Given the description of an element on the screen output the (x, y) to click on. 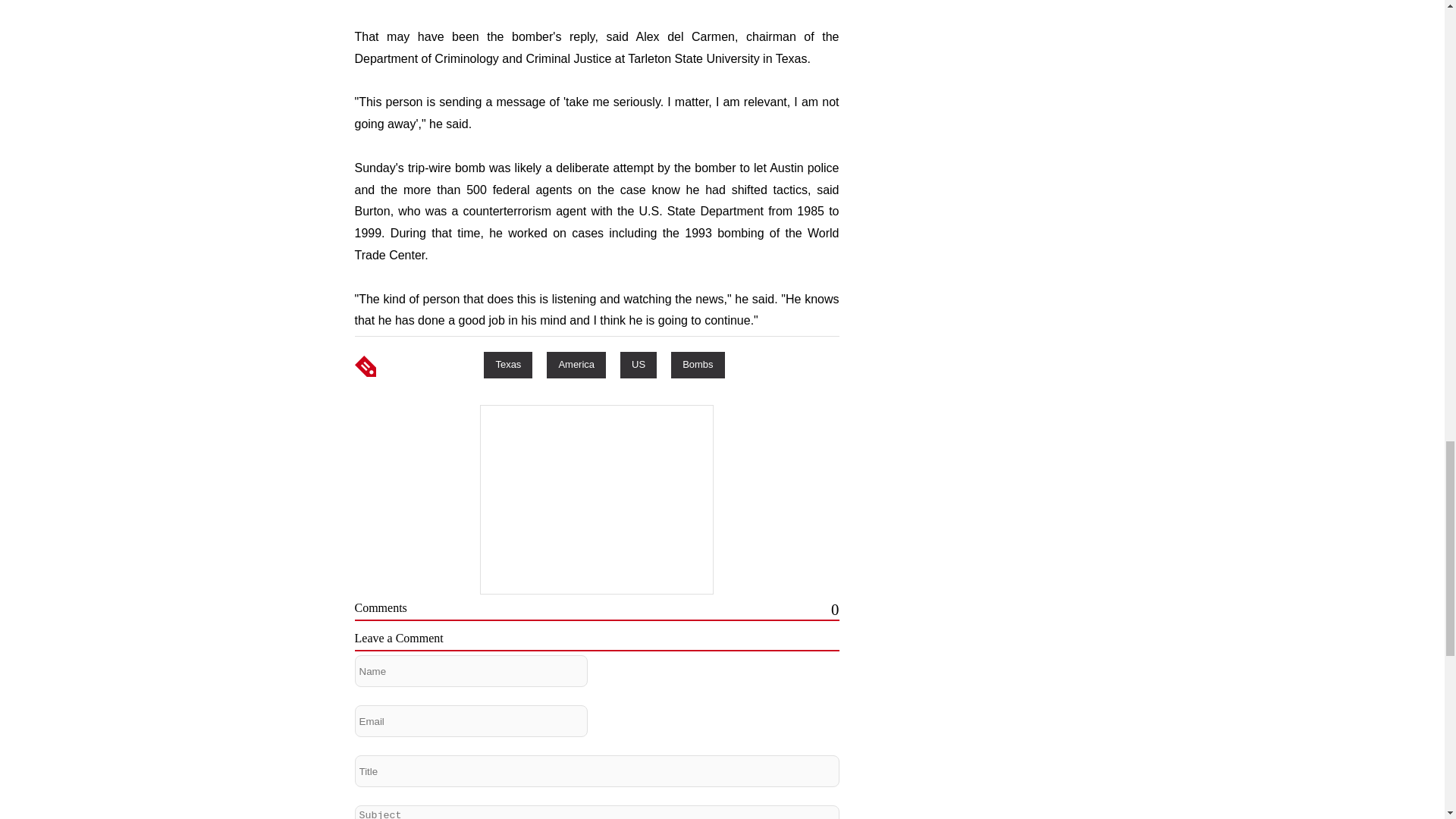
America (576, 364)
US (638, 364)
Texas (507, 364)
Bombs (697, 364)
